Given the description of an element on the screen output the (x, y) to click on. 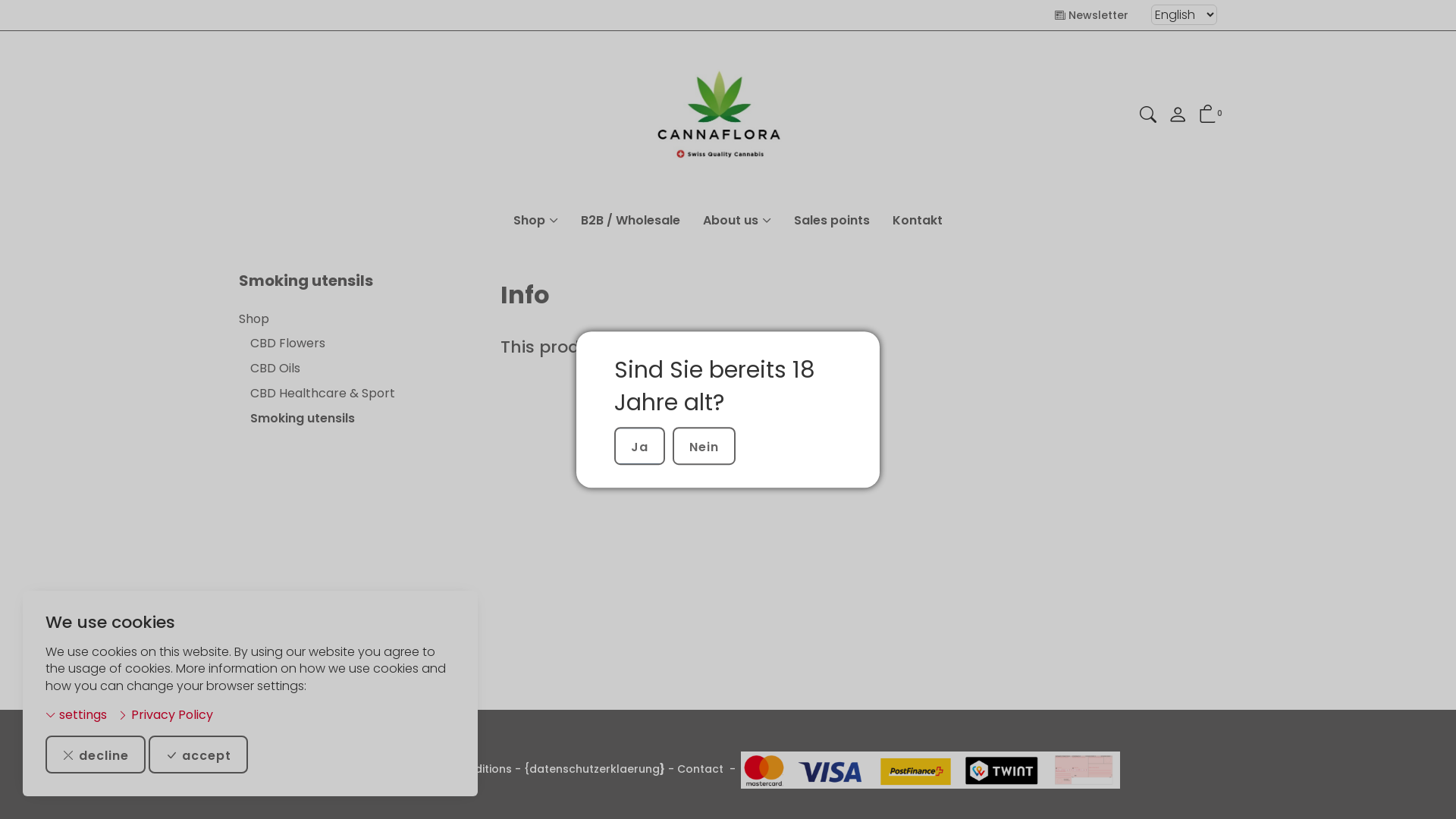
Smoking utensils Element type: text (352, 418)
Search Element type: hover (1147, 116)
Smoking utensils Element type: text (305, 280)
Terms and conditions Element type: text (450, 768)
CBD Oils Element type: text (352, 368)
decline Element type: text (95, 754)
Nein Element type: text (703, 445)
Newsletter Element type: text (1091, 14)
settings Element type: text (75, 715)
Imprint Element type: text (358, 768)
Privacy Policy Element type: text (165, 715)
Shop Element type: text (352, 319)
0 Element type: text (1207, 116)
CBD Healthcare & Sport Element type: text (352, 393)
B2B / Wholesale Element type: text (630, 220)
Contact Element type: text (700, 768)
Ja Element type: text (639, 445)
Kontakt Element type: text (917, 220)
accept Element type: text (197, 754)
My account Element type: hover (1177, 117)
About us Element type: text (736, 220)
CBD Flowers Element type: text (352, 343)
Shop Element type: text (535, 220)
Sales points Element type: text (831, 220)
